Given the description of an element on the screen output the (x, y) to click on. 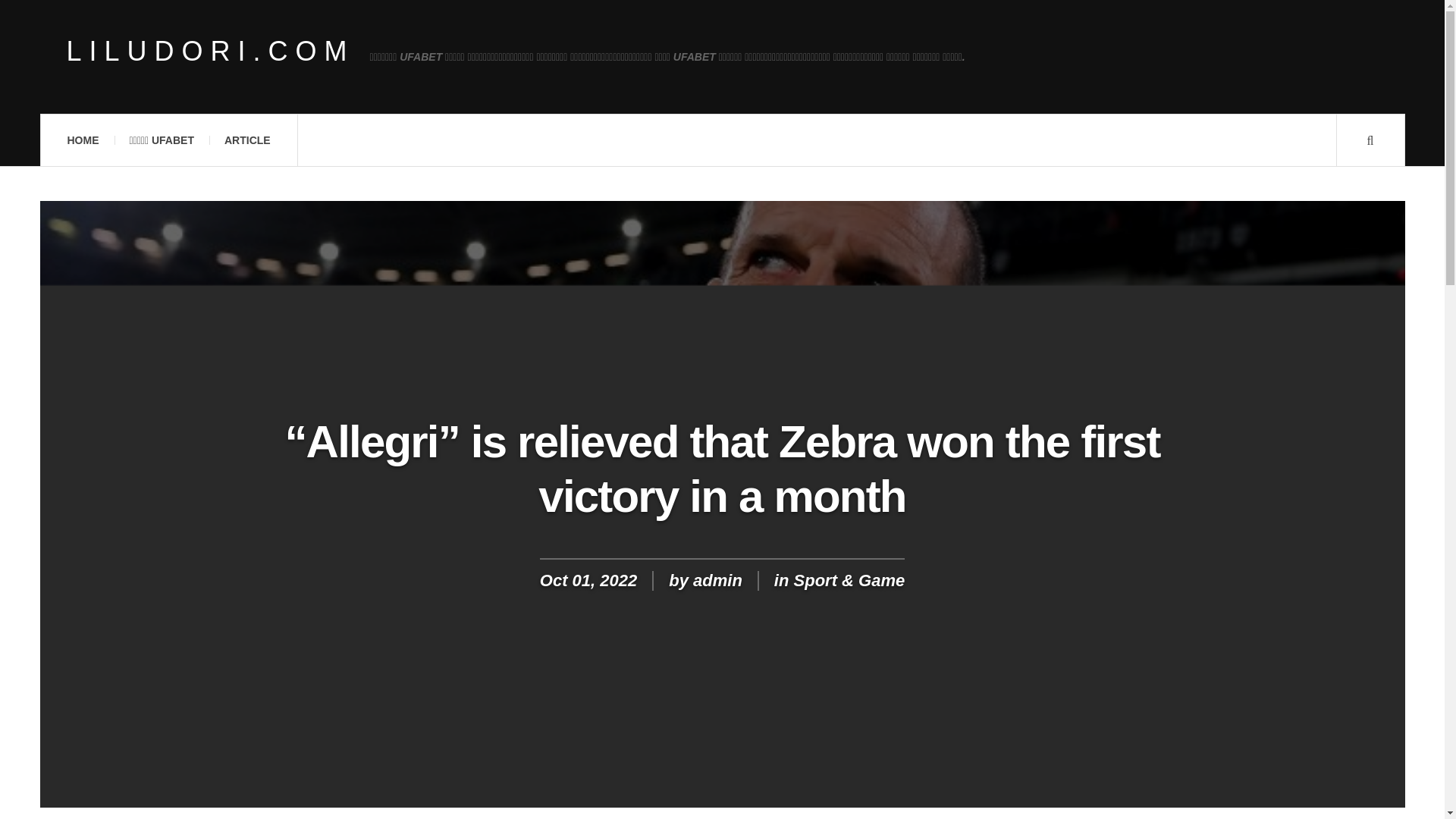
HOME (81, 140)
admin (717, 579)
ARTICLE (247, 140)
LILUDORI.COM (210, 51)
liludori.com (210, 51)
